Given the description of an element on the screen output the (x, y) to click on. 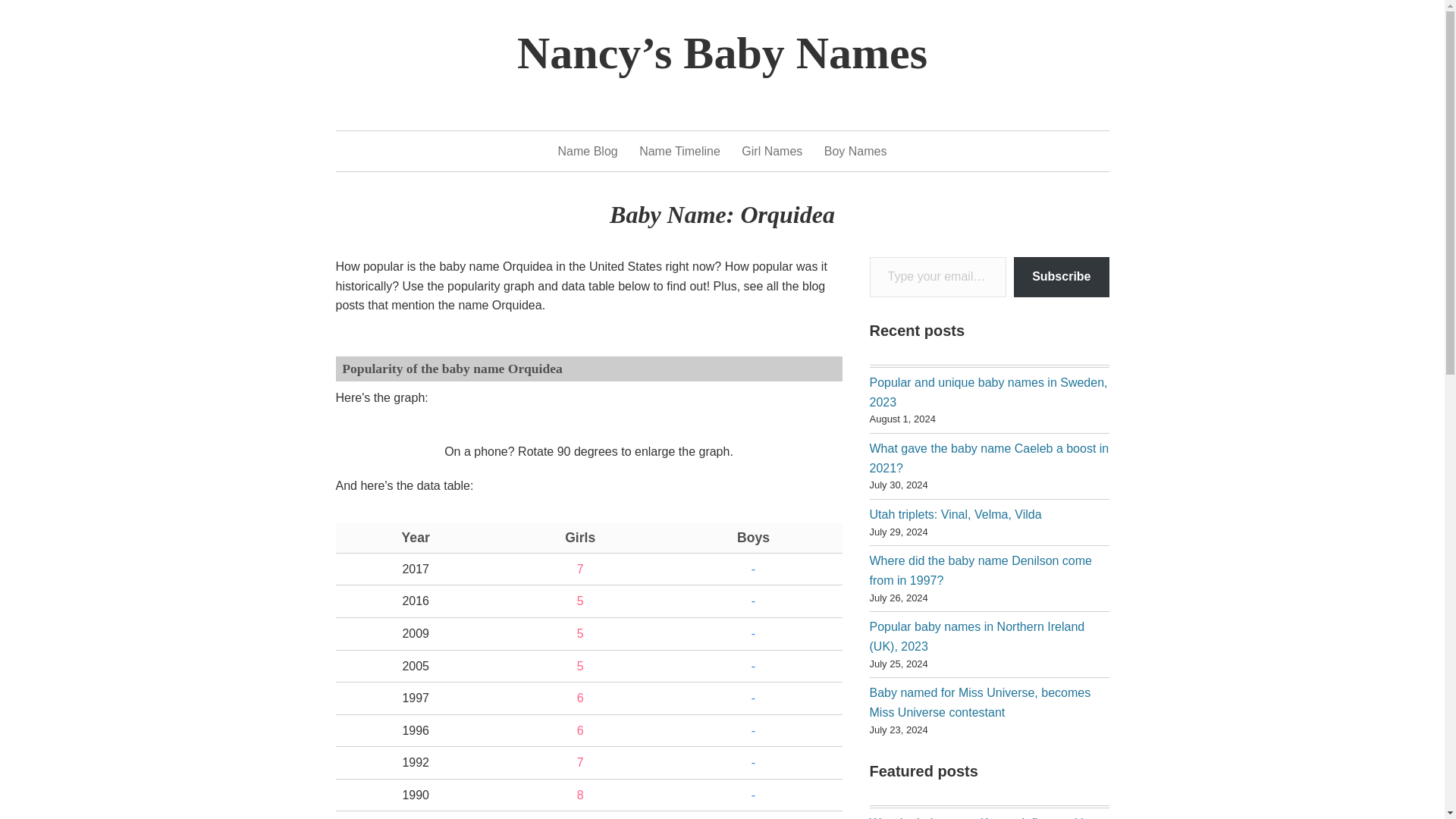
Subscribe (1060, 277)
Utah triplets: Vinal, Velma, Vilda (955, 513)
Girl Names (771, 151)
Baby Girl Names (771, 151)
Name Blog (587, 151)
Popular and unique baby names in Sweden, 2023 (987, 391)
Where did the baby name Denilson come from in 1997? (980, 570)
Boy Names (855, 151)
Baby Name Timeline (679, 151)
Name Timeline (679, 151)
